Given the description of an element on the screen output the (x, y) to click on. 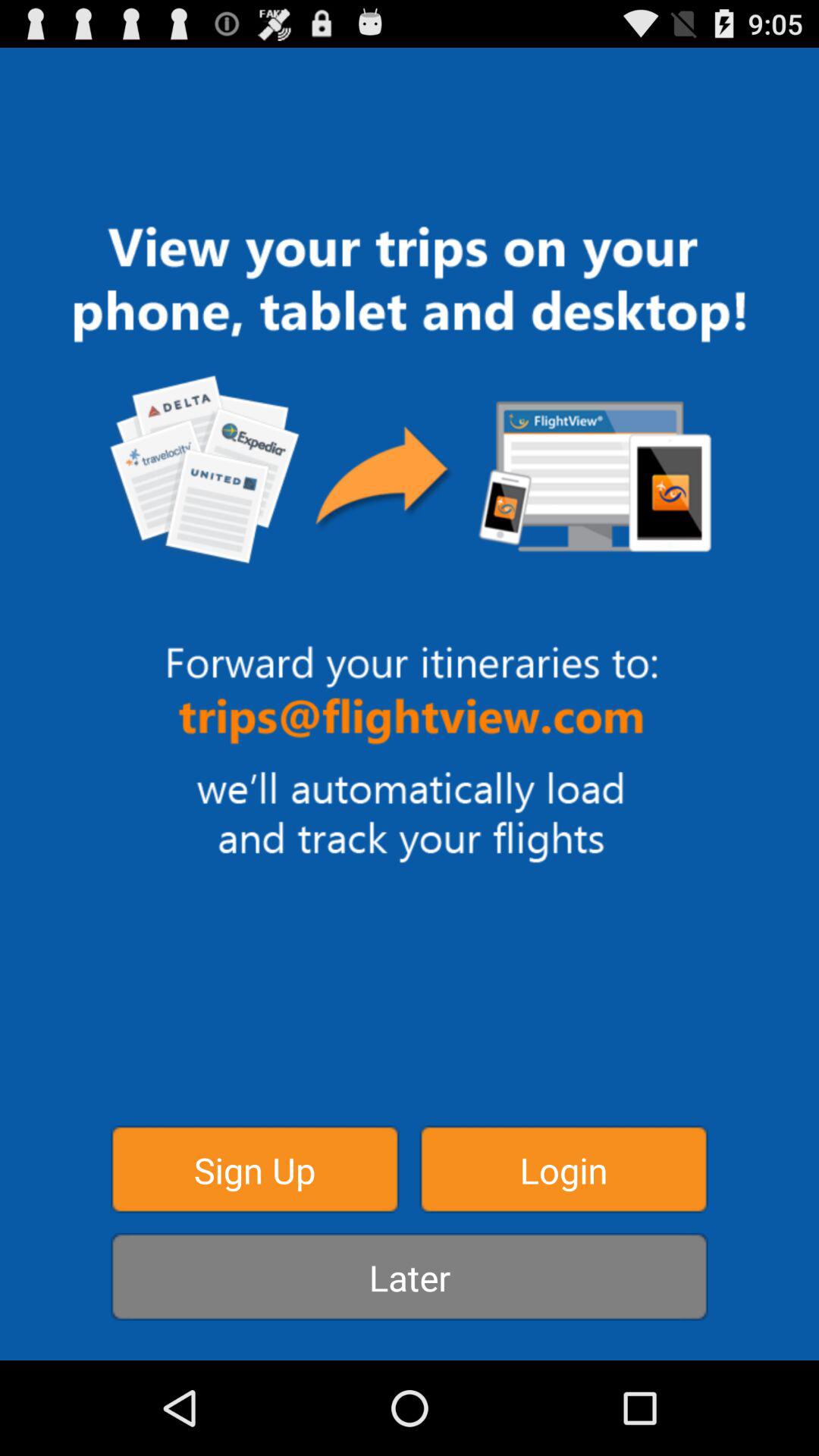
jump to later (409, 1276)
